Given the description of an element on the screen output the (x, y) to click on. 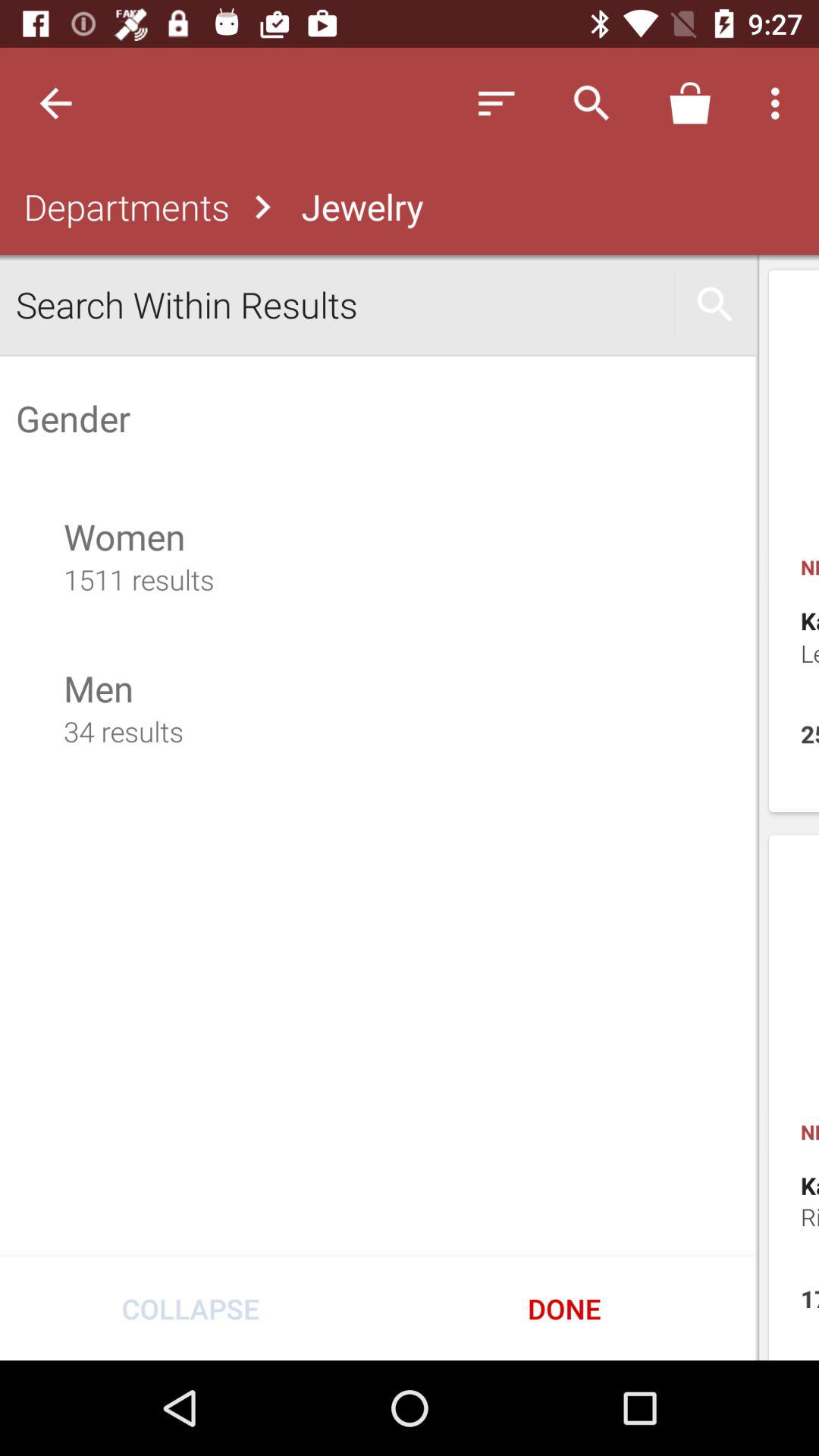
press icon at the bottom left corner (190, 1308)
